Given the description of an element on the screen output the (x, y) to click on. 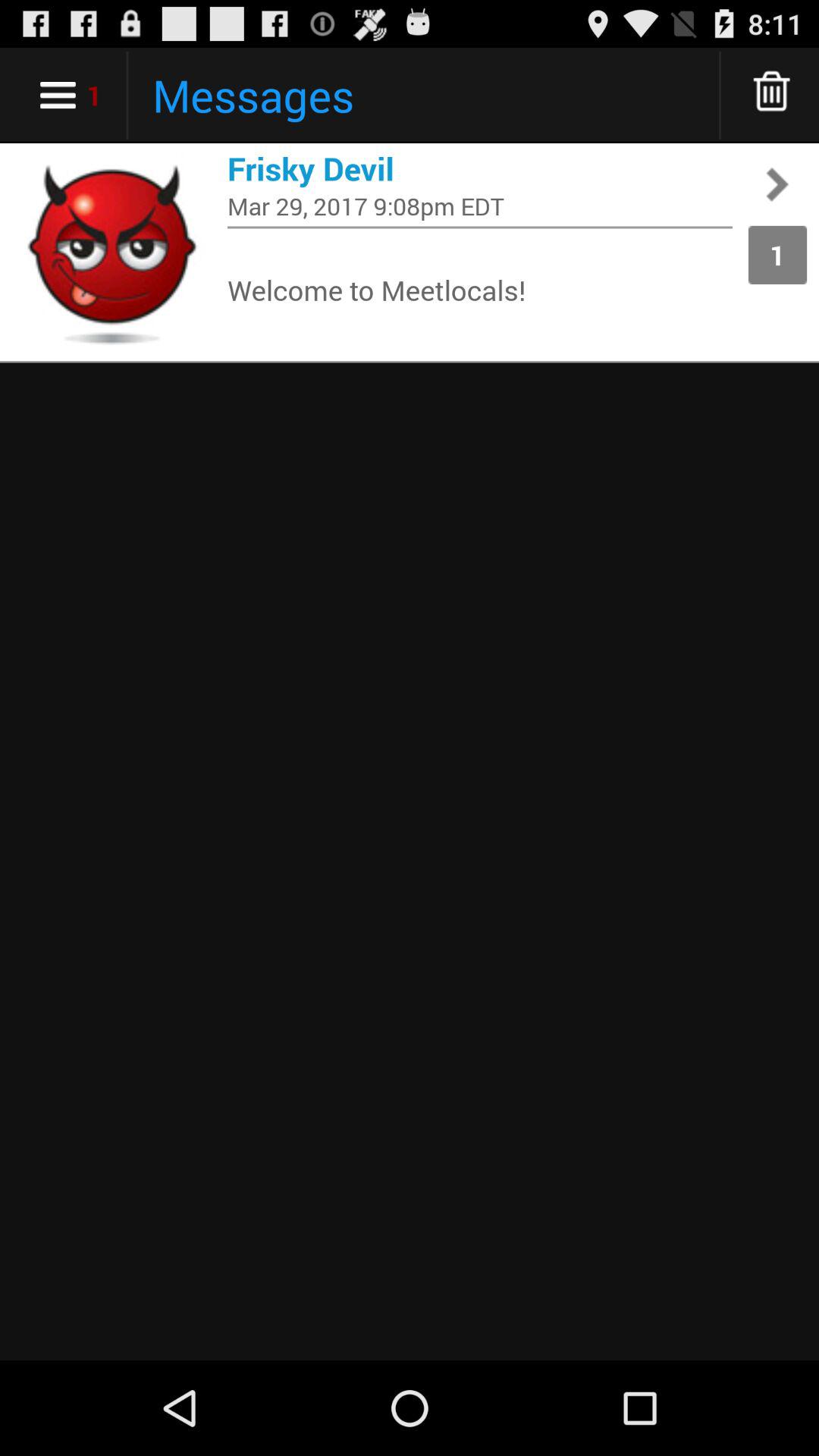
tap the app above welcome to meetlocals (479, 227)
